Given the description of an element on the screen output the (x, y) to click on. 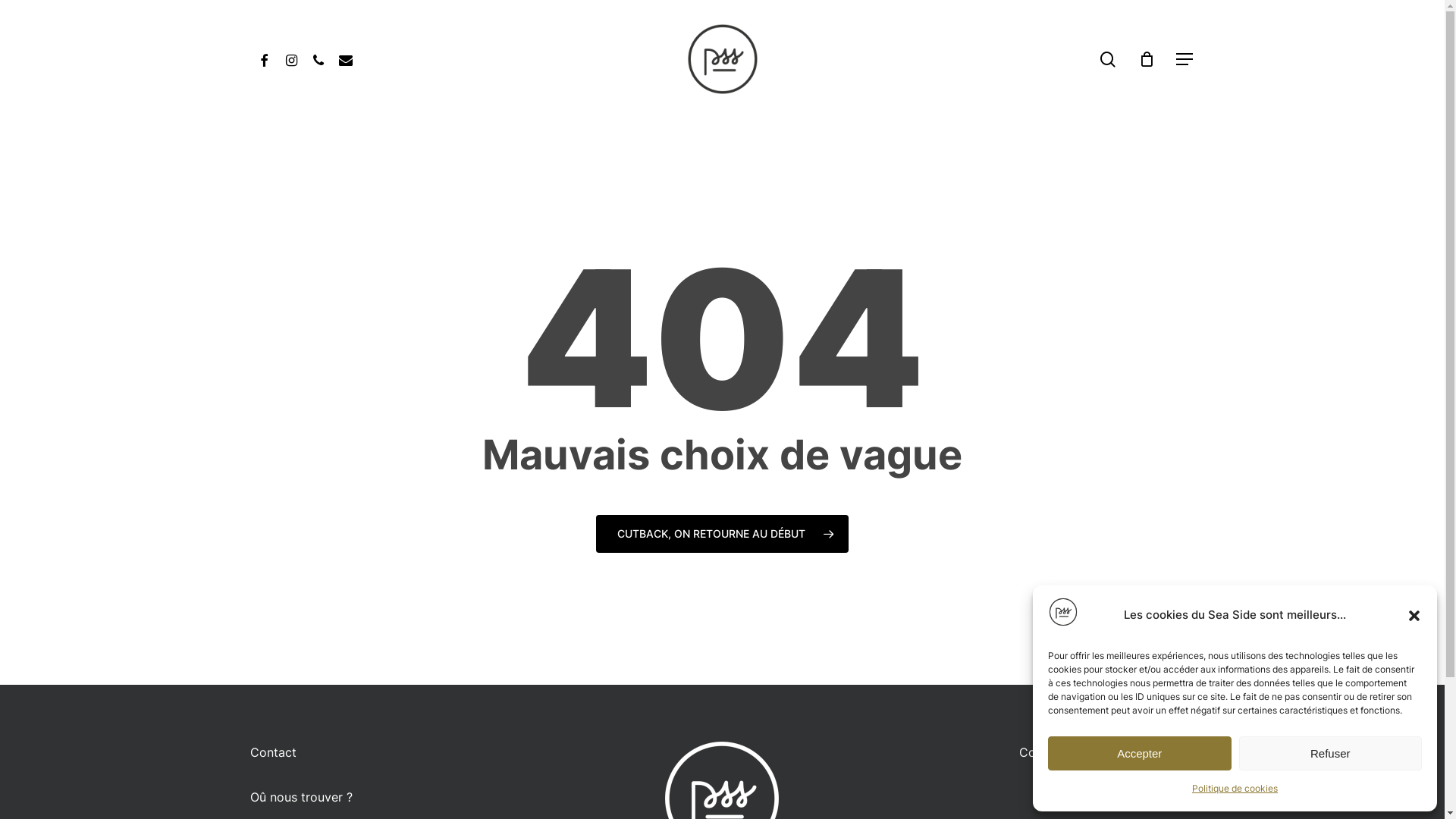
search Element type: text (1107, 59)
Menu Element type: text (1185, 59)
Politique de cookies Element type: text (1234, 789)
facebook Element type: text (263, 58)
instagram Element type: text (290, 58)
Contact Element type: text (273, 751)
Accepter Element type: text (1139, 753)
phone Element type: text (318, 58)
email Element type: text (345, 58)
Refuser Element type: text (1330, 753)
